Given the description of an element on the screen output the (x, y) to click on. 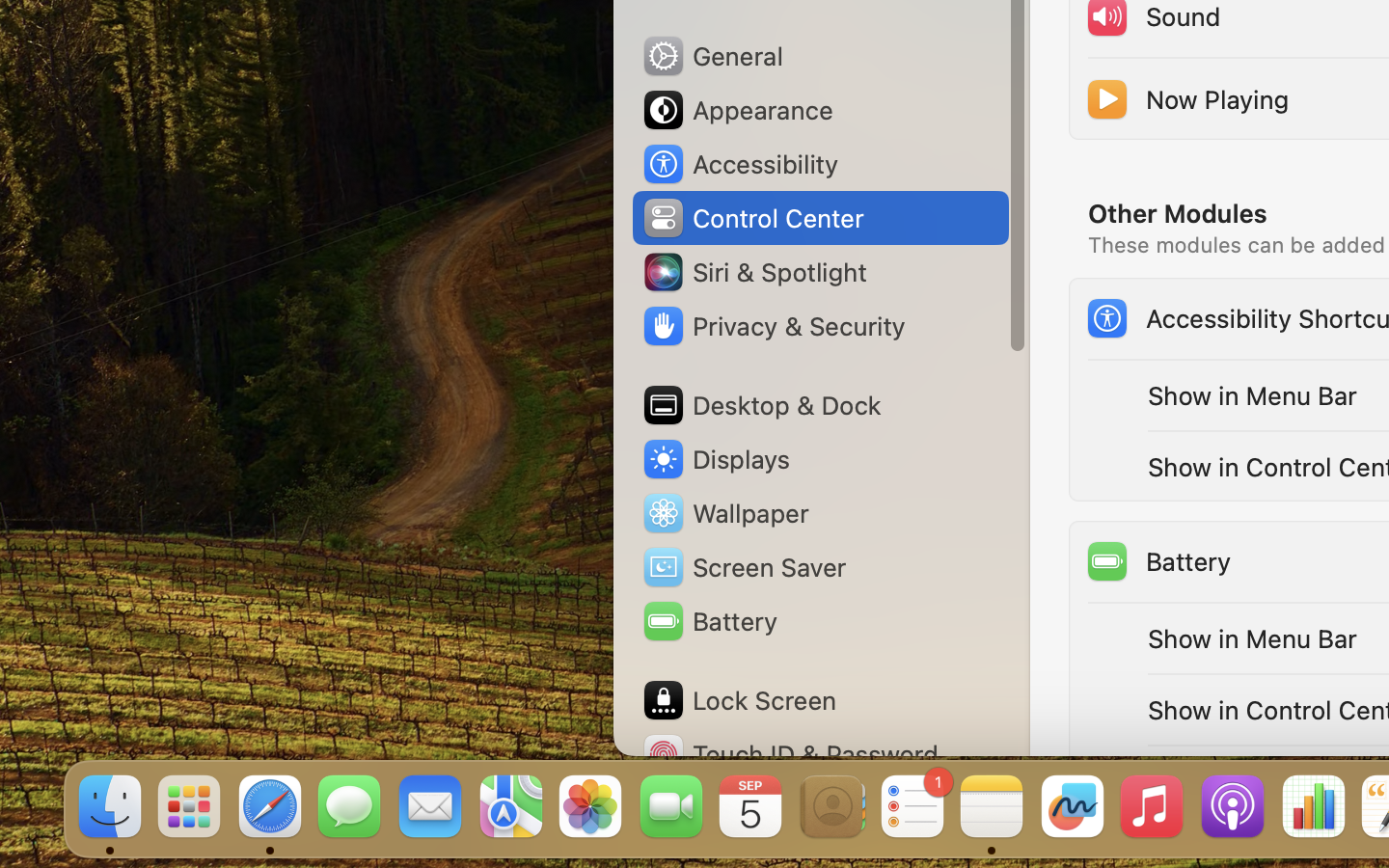
Appearance Element type: AXStaticText (736, 109)
Control Center Element type: AXStaticText (752, 217)
Wallpaper Element type: AXStaticText (724, 512)
Desktop & Dock Element type: AXStaticText (760, 404)
Accessibility Element type: AXStaticText (739, 163)
